Given the description of an element on the screen output the (x, y) to click on. 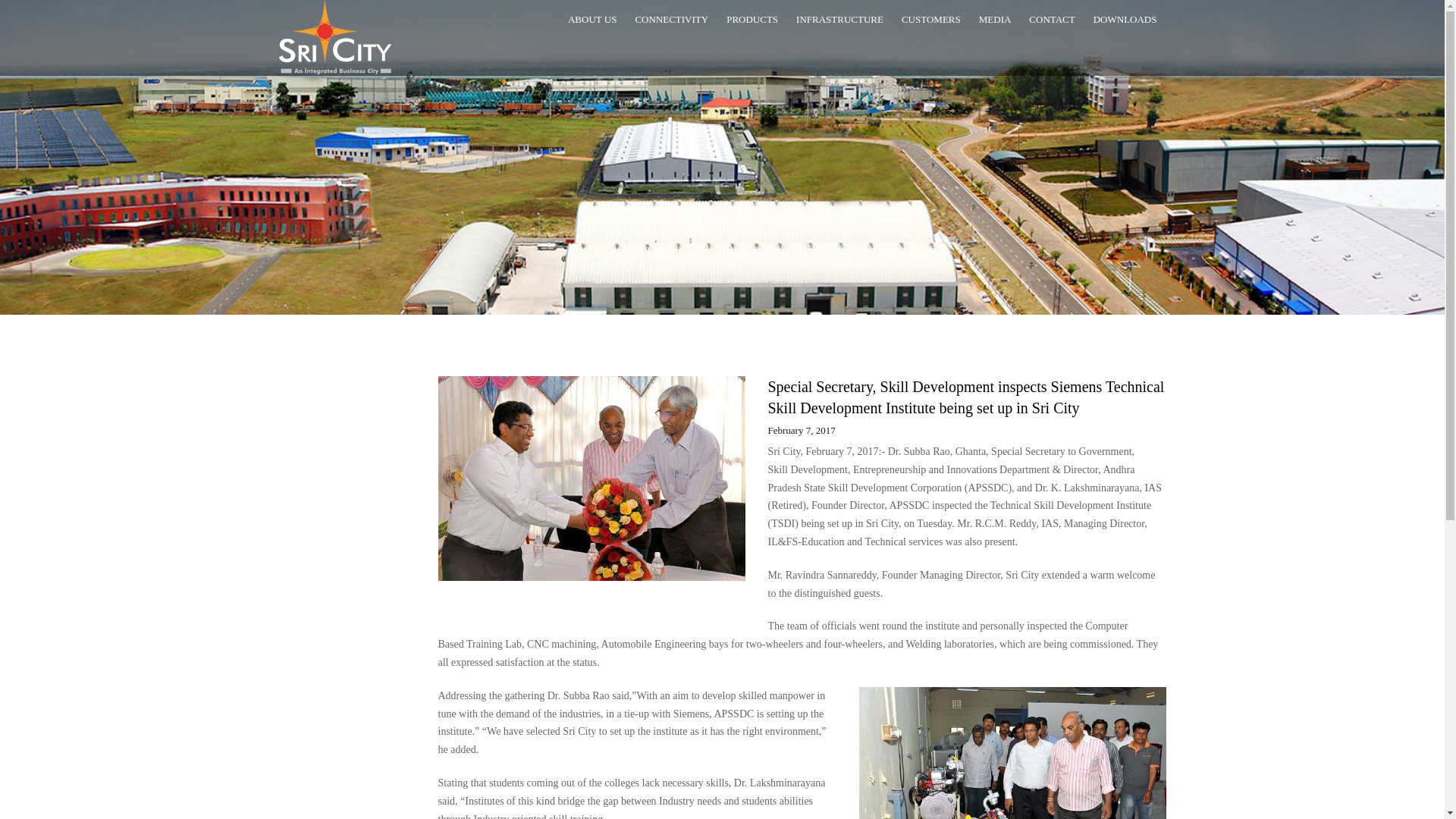
MEDIA (994, 19)
About Us (592, 19)
Products (752, 19)
February 7, 2017 (800, 430)
Connectivity (671, 19)
INFRASTRUCTURE (839, 19)
CONTACT (1051, 19)
CONNECTIVITY (671, 19)
Sri City (335, 37)
ABOUT US (592, 19)
CUSTOMERS (930, 19)
Sri City (335, 37)
PRODUCTS (752, 19)
DOWNLOADS (1125, 19)
